Given the description of an element on the screen output the (x, y) to click on. 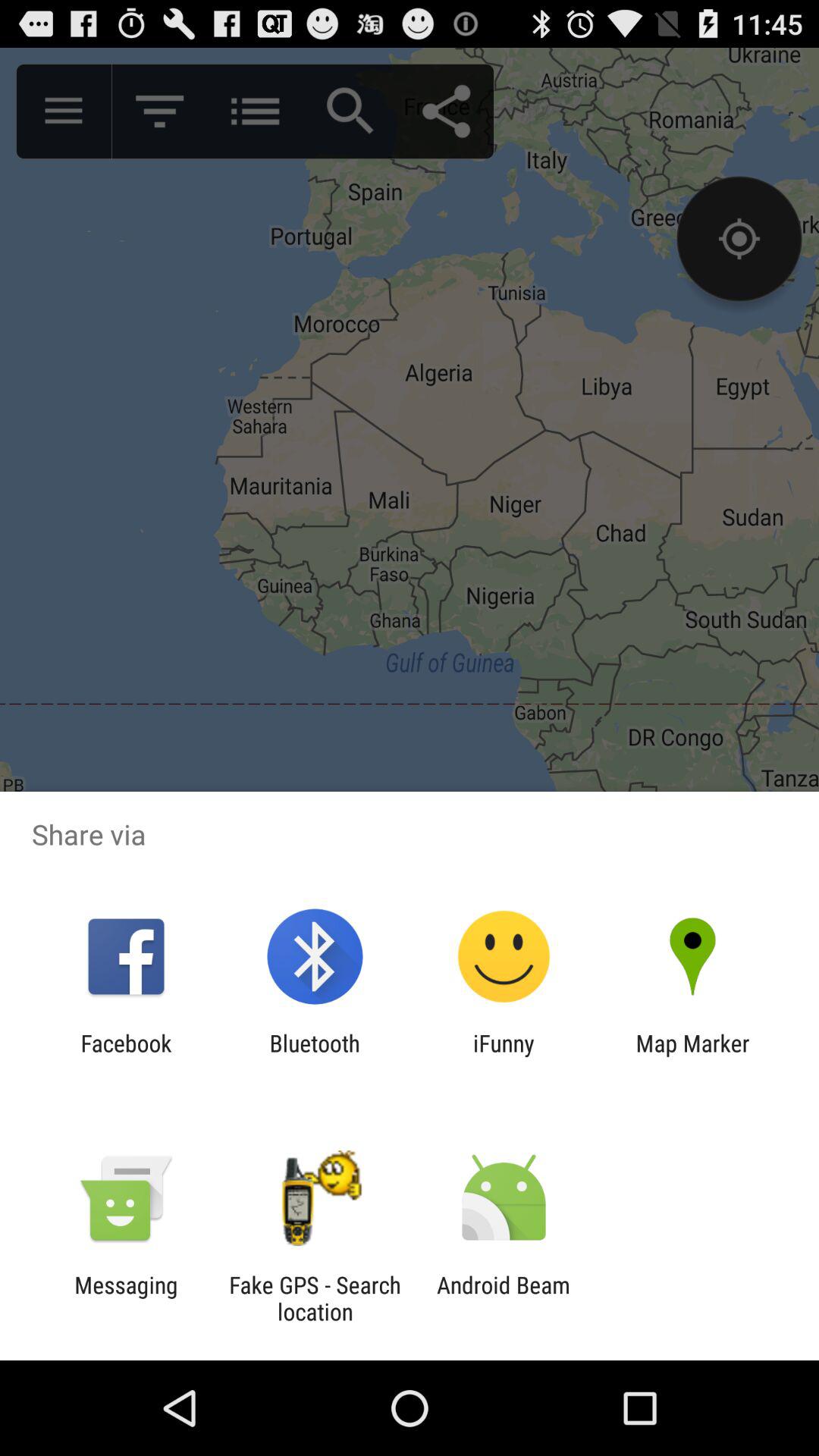
choose the item to the left of the map marker item (503, 1056)
